Given the description of an element on the screen output the (x, y) to click on. 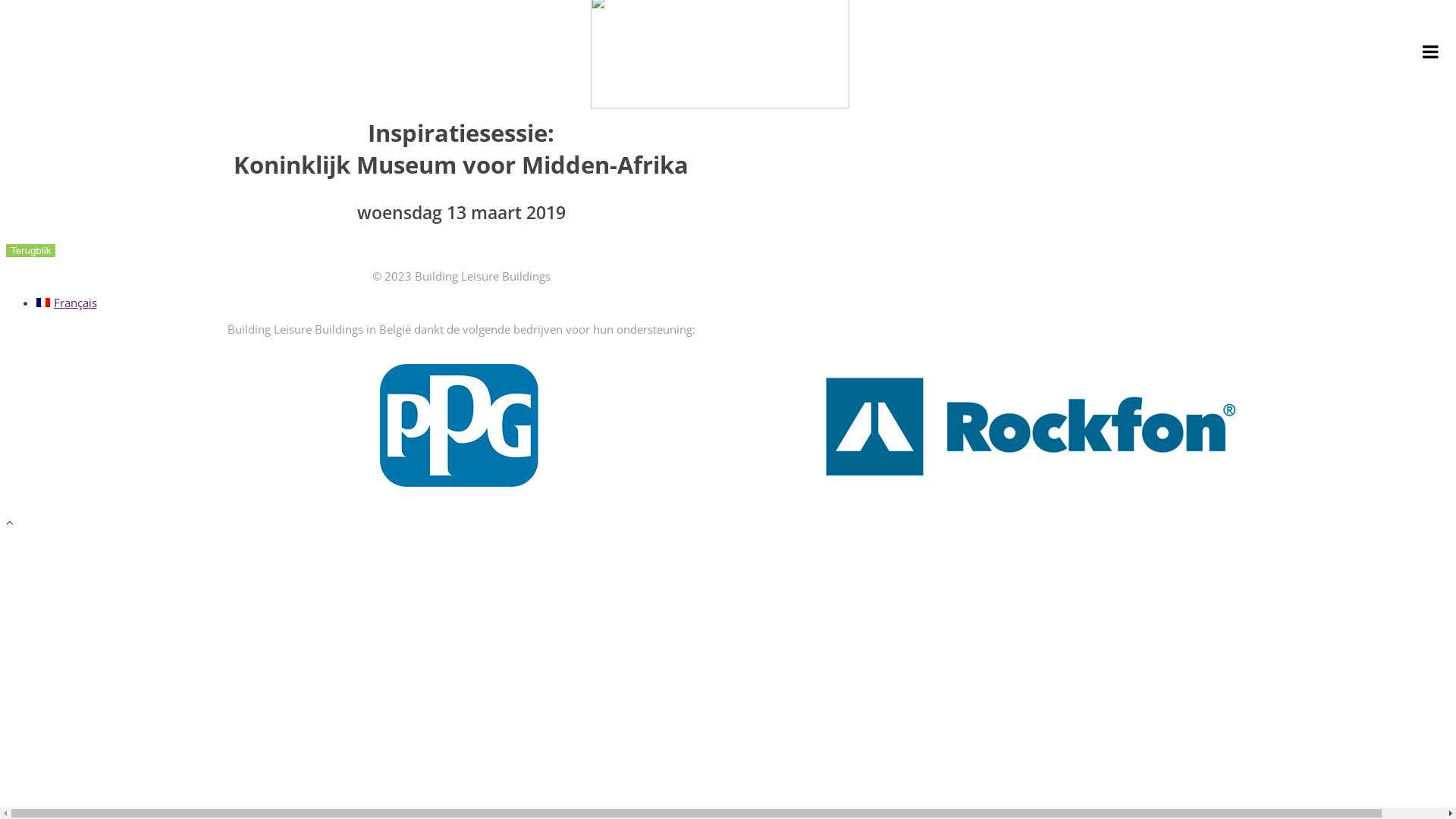
Terugblik Element type: text (30, 249)
Terugblik Element type: text (30, 248)
Scroll to Top Element type: hover (9, 520)
